Given the description of an element on the screen output the (x, y) to click on. 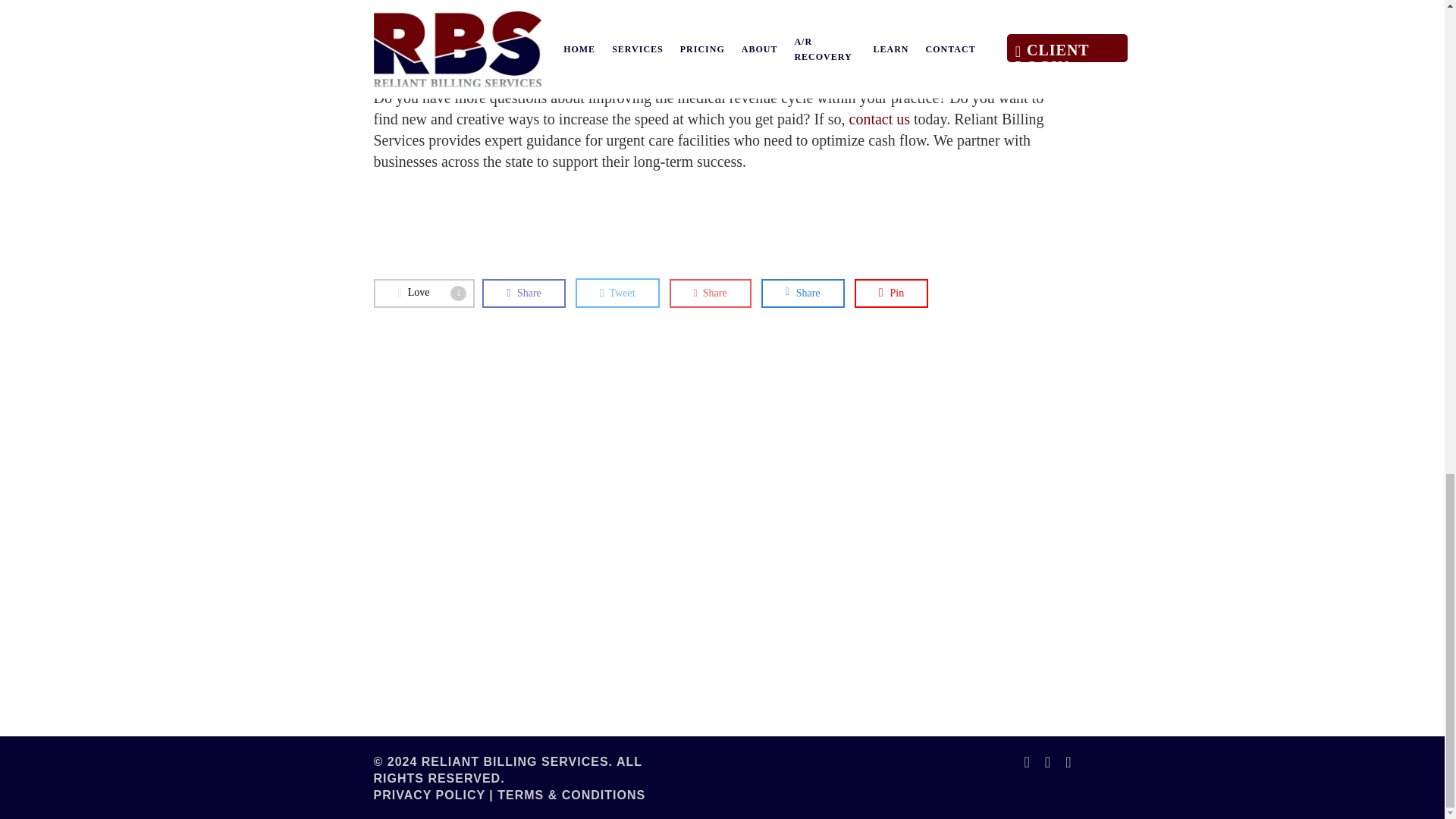
Tweet this (617, 292)
Share this (802, 293)
Tweet (617, 292)
Share (522, 293)
contact us (879, 118)
Love this (423, 293)
Pin (891, 293)
Share (423, 293)
PRIVACY POLICY (802, 293)
